Given the description of an element on the screen output the (x, y) to click on. 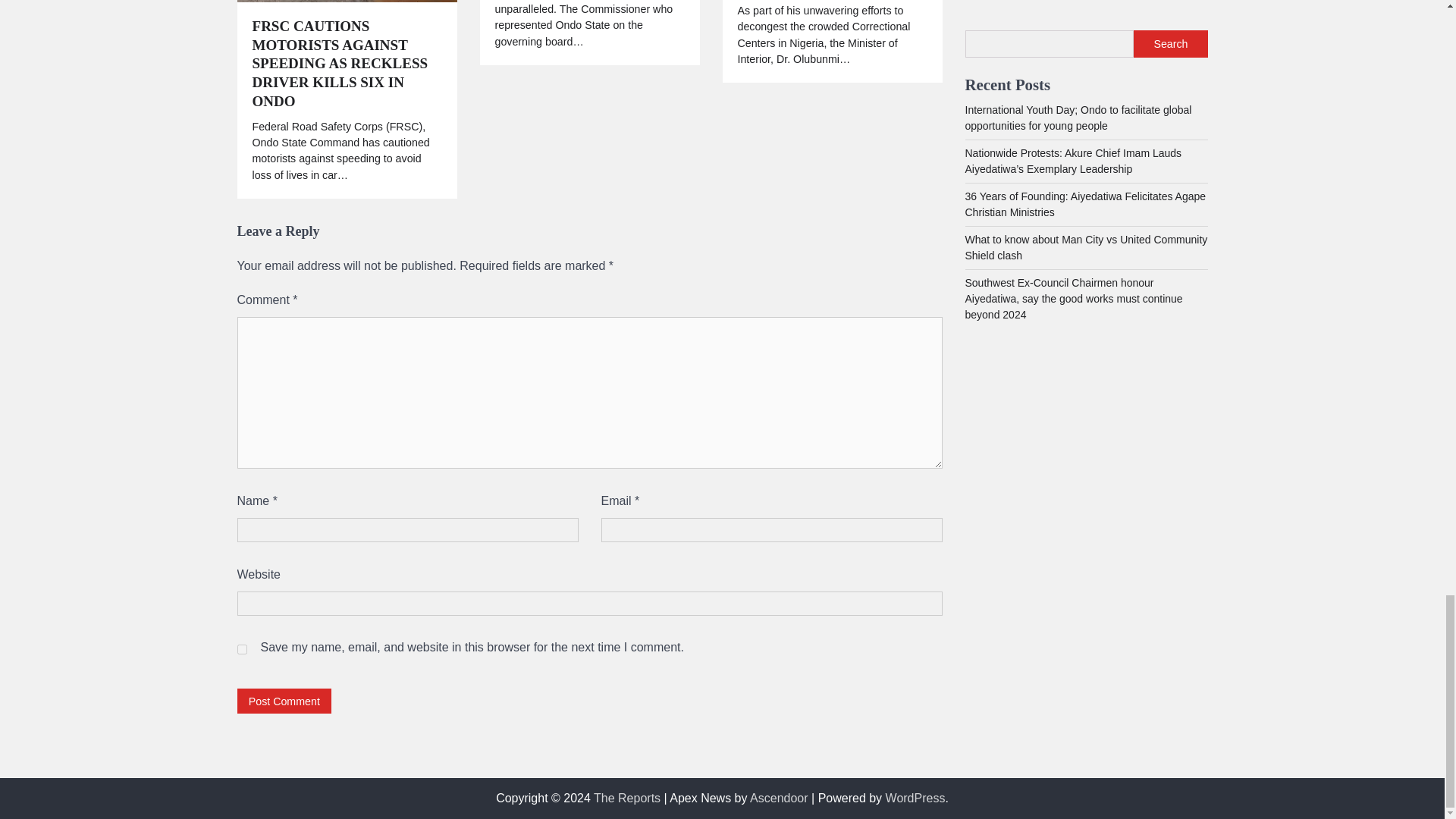
The Reports (627, 797)
yes (240, 649)
Ascendoor (778, 797)
WordPress (914, 797)
Post Comment (283, 700)
Post Comment (283, 700)
